Given the description of an element on the screen output the (x, y) to click on. 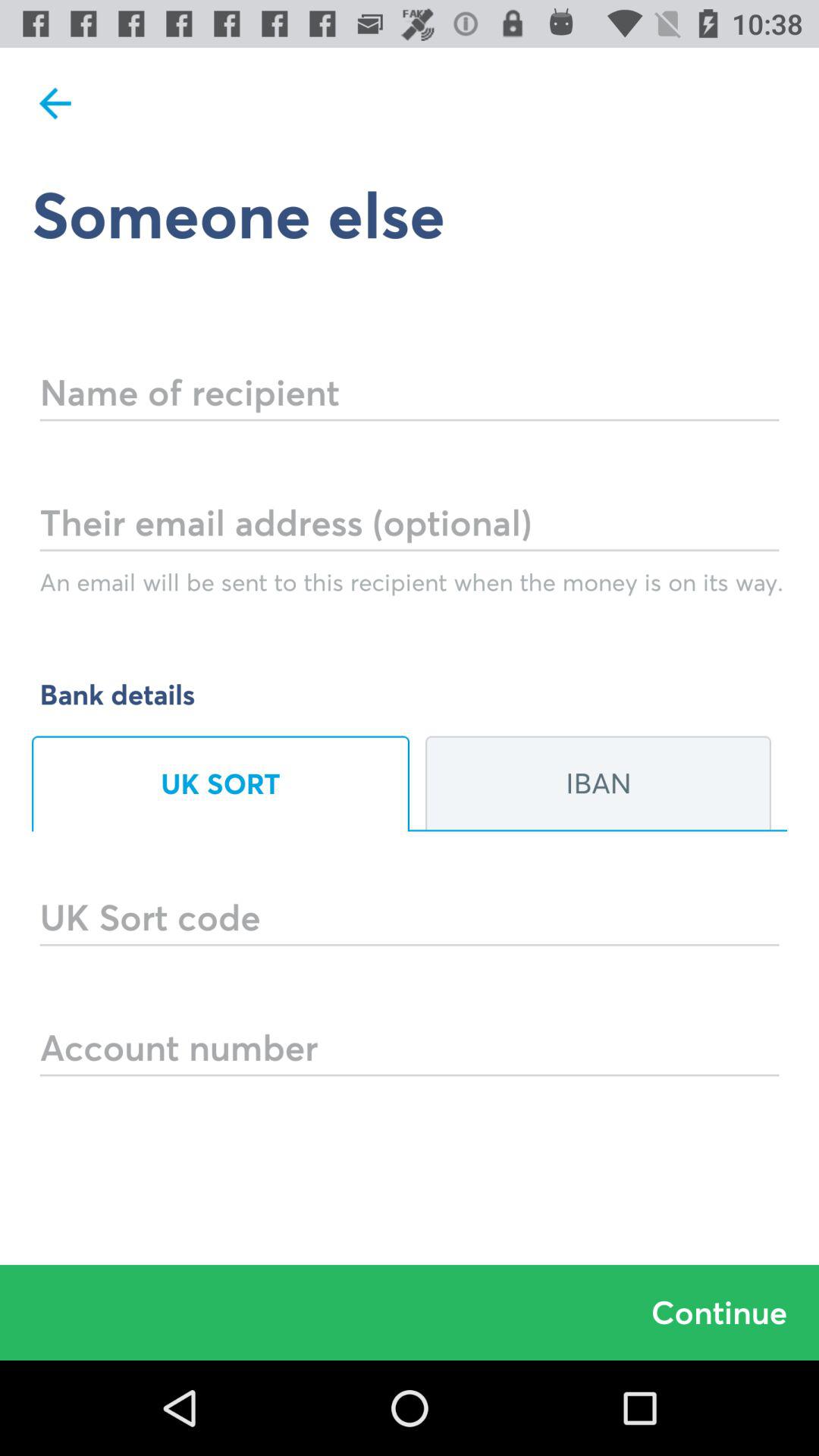
launch item above the someone else icon (55, 103)
